Given the description of an element on the screen output the (x, y) to click on. 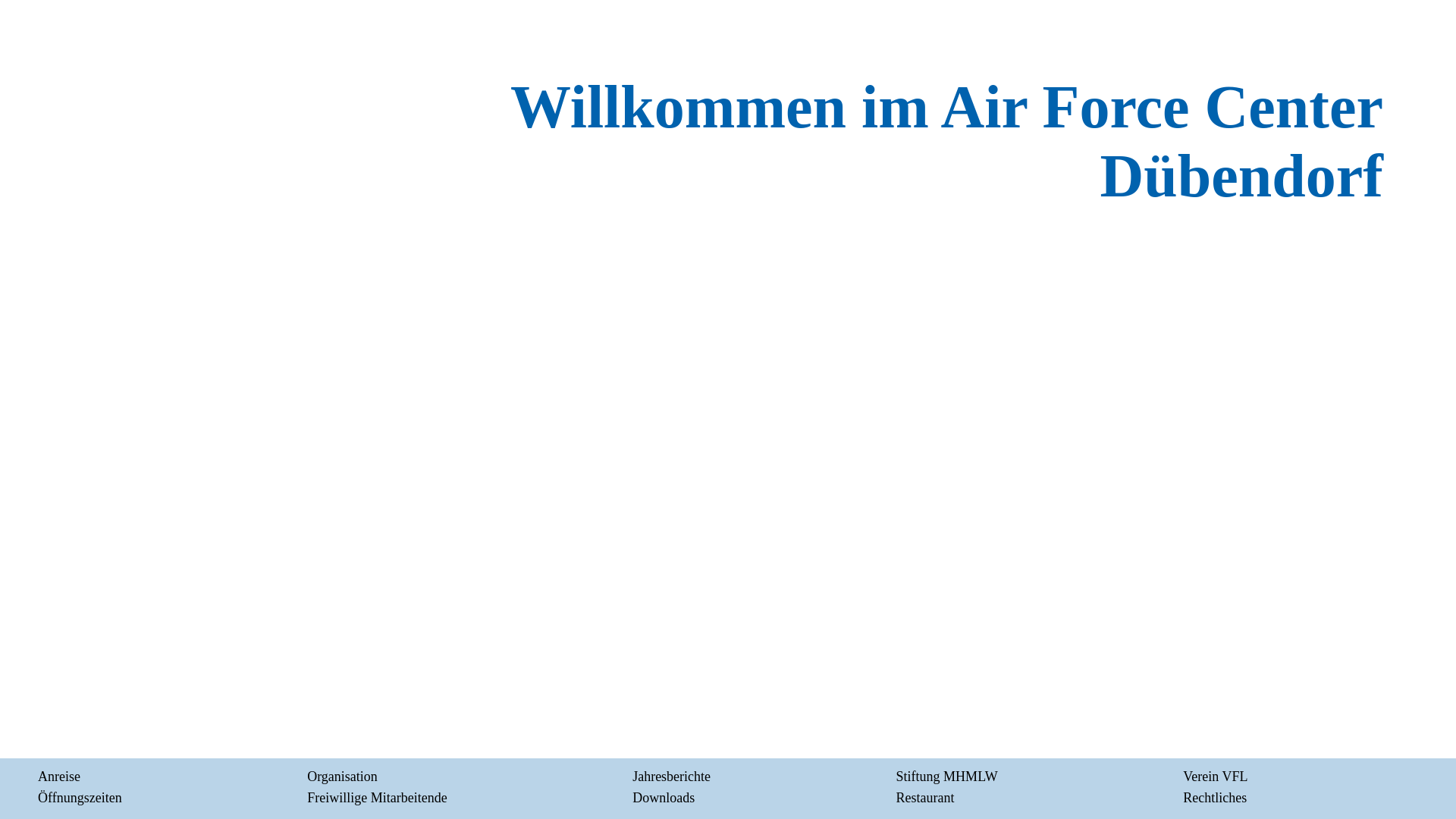
Freiwillige Mitarbeitende Element type: text (376, 797)
Restaurant Element type: text (925, 797)
Rechtliches Element type: text (1214, 797)
Organisation Element type: text (342, 776)
Downloads Element type: text (663, 797)
Anreise Element type: text (58, 776)
Jahresberichte Element type: text (671, 776)
Verein VFL Element type: text (1215, 776)
Stiftung MHMLW Element type: text (946, 776)
